Given the description of an element on the screen output the (x, y) to click on. 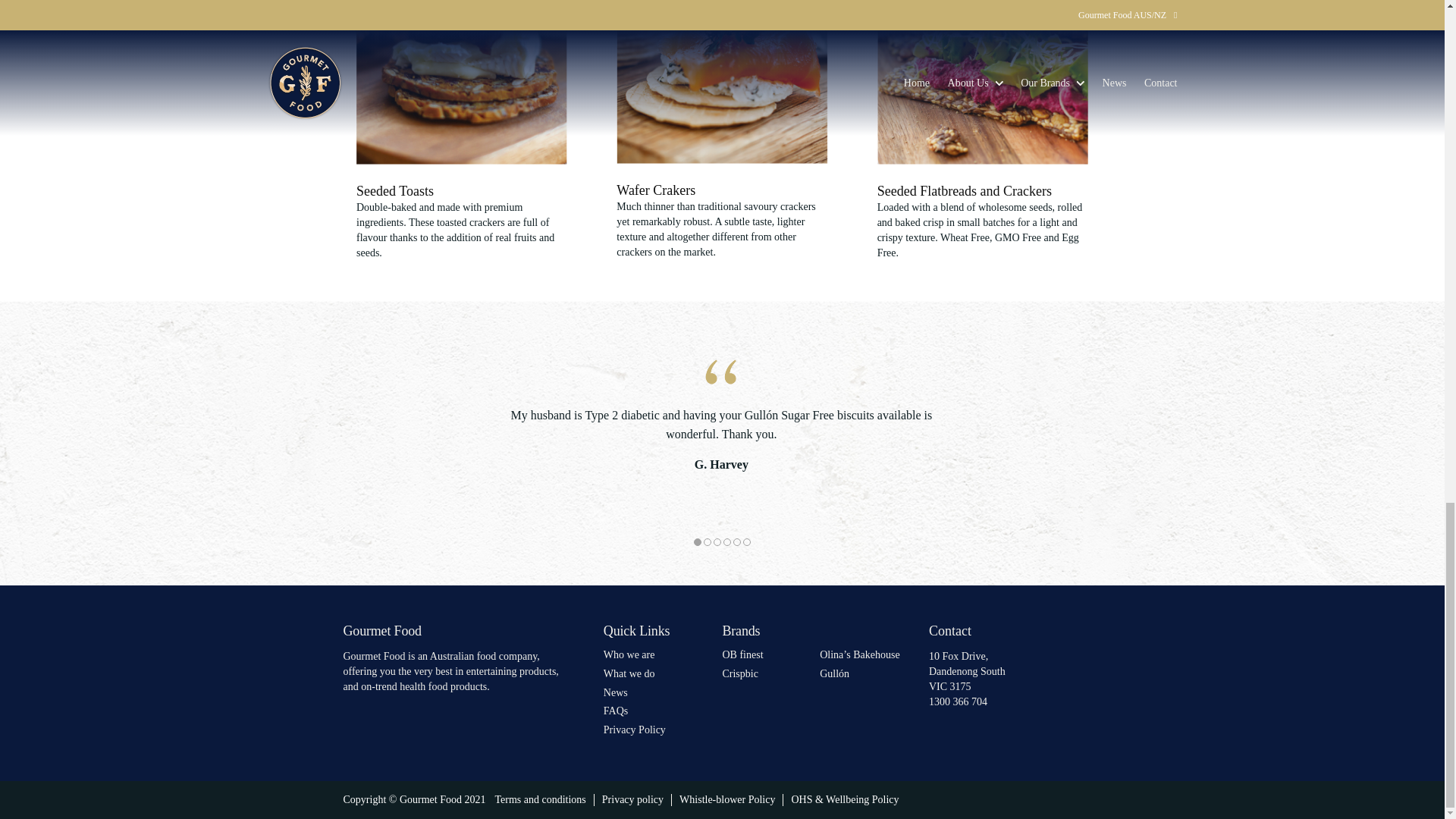
Vector-Smart-Object-1 (982, 81)
Privacy Policy (634, 729)
Who we are (629, 654)
FAQs (615, 710)
What we do (629, 673)
Vector-Smart-Object (461, 81)
OB finest (742, 654)
Crispbic (739, 673)
1300 366 704 (957, 701)
News (615, 692)
Privacy policy (632, 798)
Vector-Smart-Object-2 (721, 81)
Terms and conditions (540, 798)
